Given the description of an element on the screen output the (x, y) to click on. 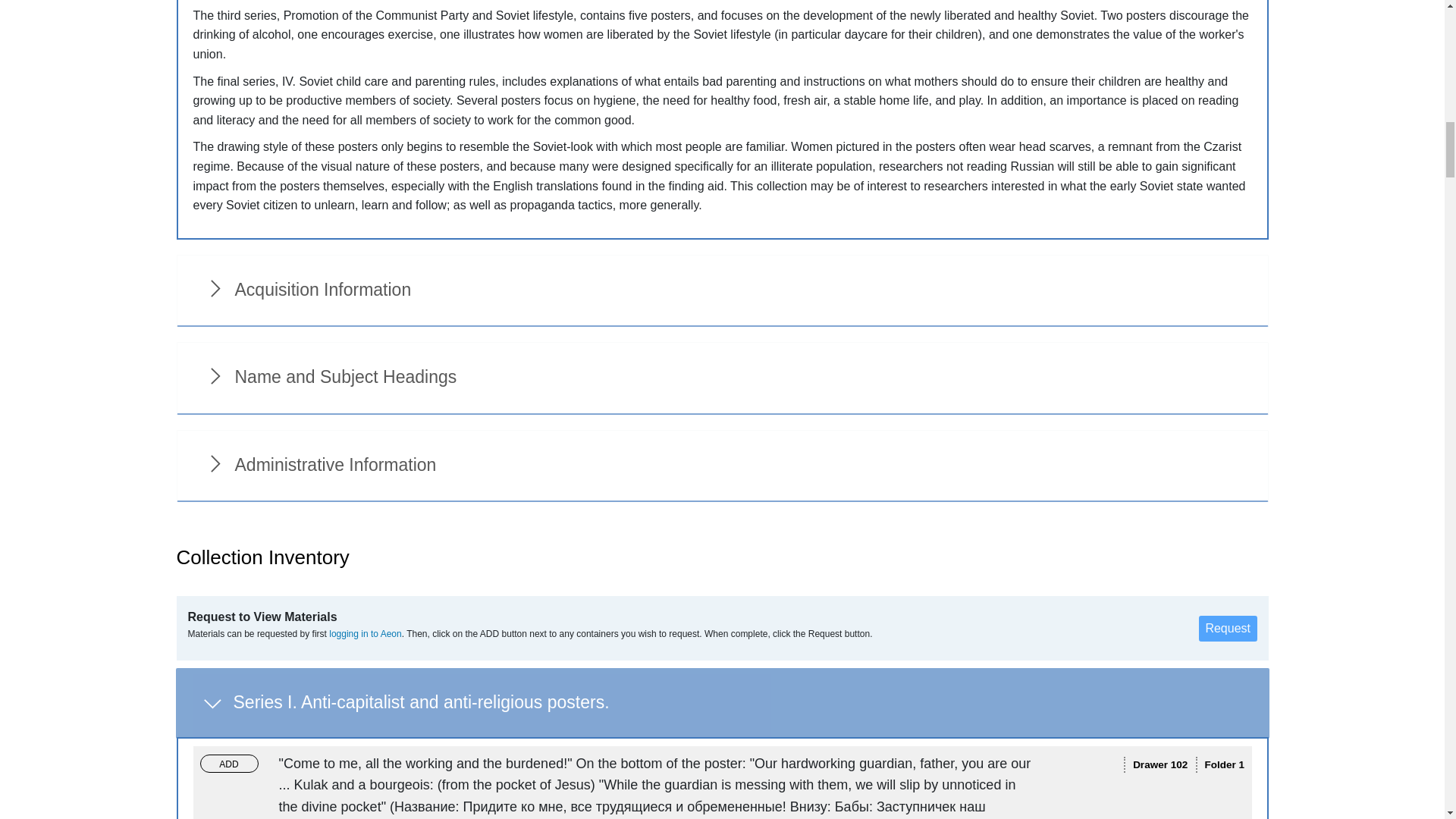
Acquisition Information (722, 290)
Name and Subject Headings (722, 378)
Series I. Anti-capitalist and anti-religious posters. (722, 703)
Request (1227, 628)
Request (1227, 628)
Administrative Information (722, 465)
logging in to Aeon (365, 633)
